Given the description of an element on the screen output the (x, y) to click on. 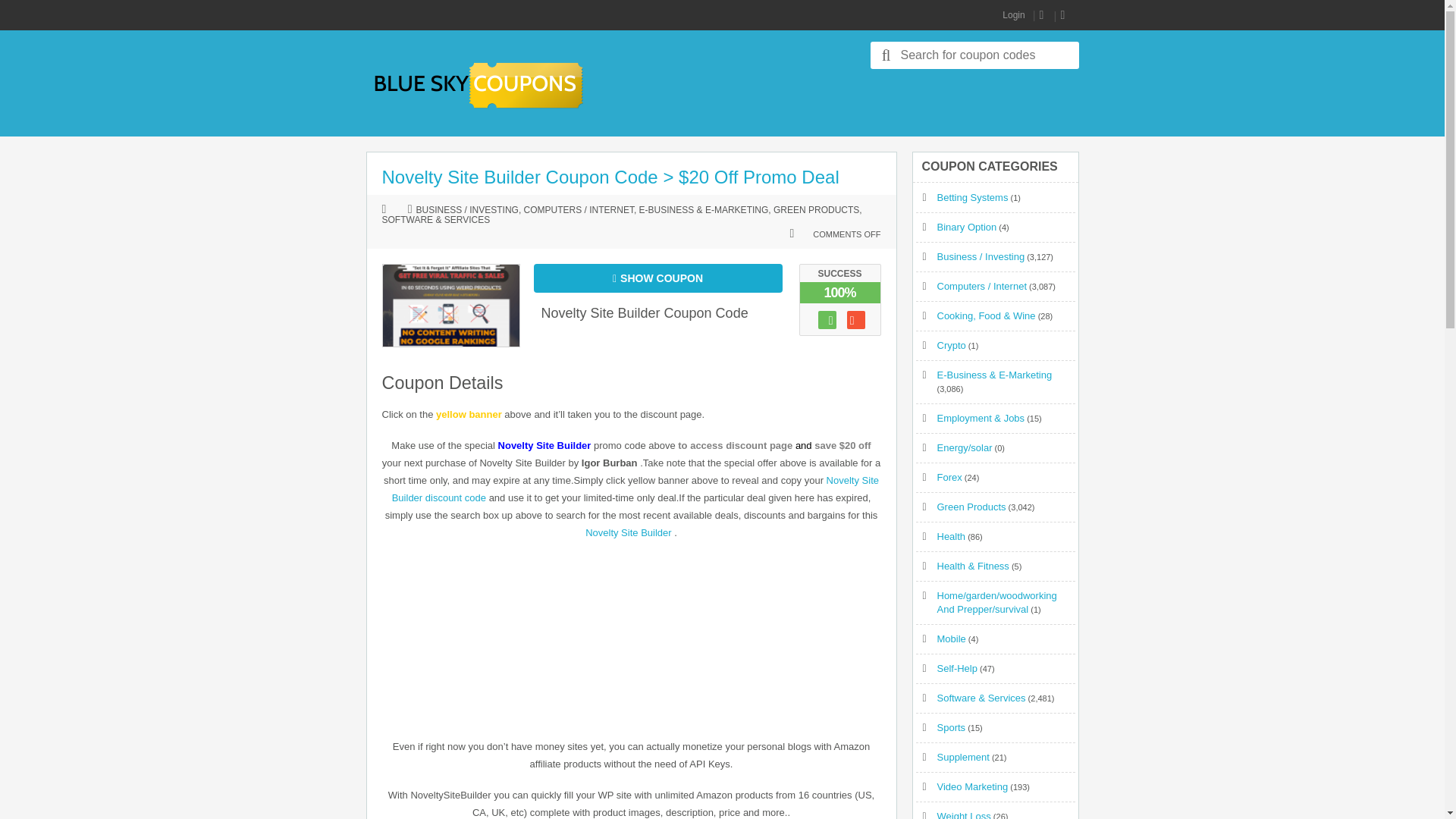
Crypto (951, 345)
Green Products (971, 506)
Betting Systems (973, 197)
Forex (949, 477)
Novelty Site Builder Coupon Code (644, 313)
Login (1014, 14)
Binary Option (967, 226)
GREEN PRODUCTS (816, 210)
Novelty Site Builder (628, 532)
Novelty Site Builder discount code (635, 489)
SHOW COUPON (658, 277)
